Given the description of an element on the screen output the (x, y) to click on. 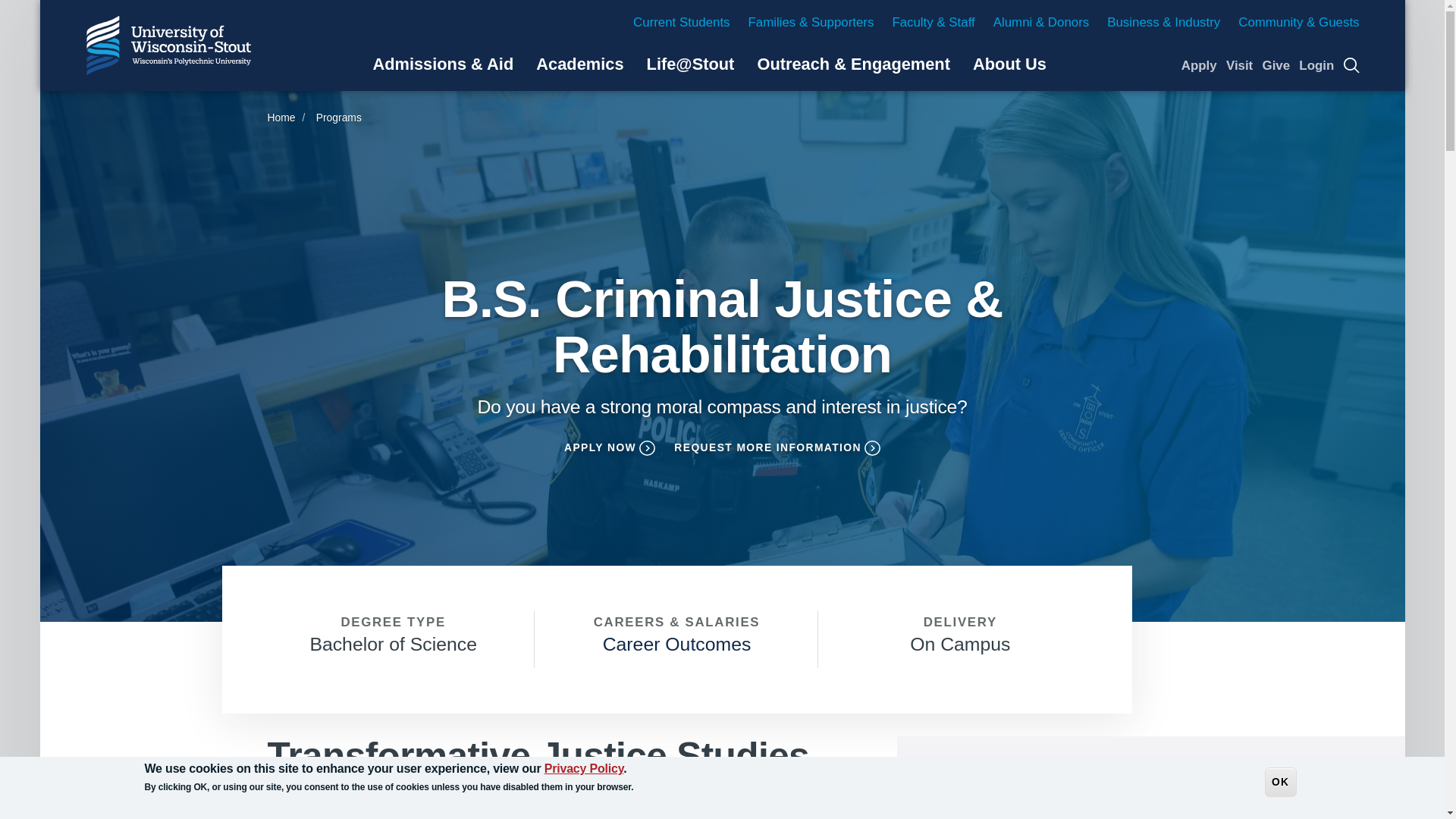
About Us (1009, 63)
Academics (579, 63)
University of Wisconsin-Stout (167, 45)
Common Logins for UW-Stout (1315, 65)
University of Wisconsin-Stout (167, 45)
Current Students (681, 22)
